Given the description of an element on the screen output the (x, y) to click on. 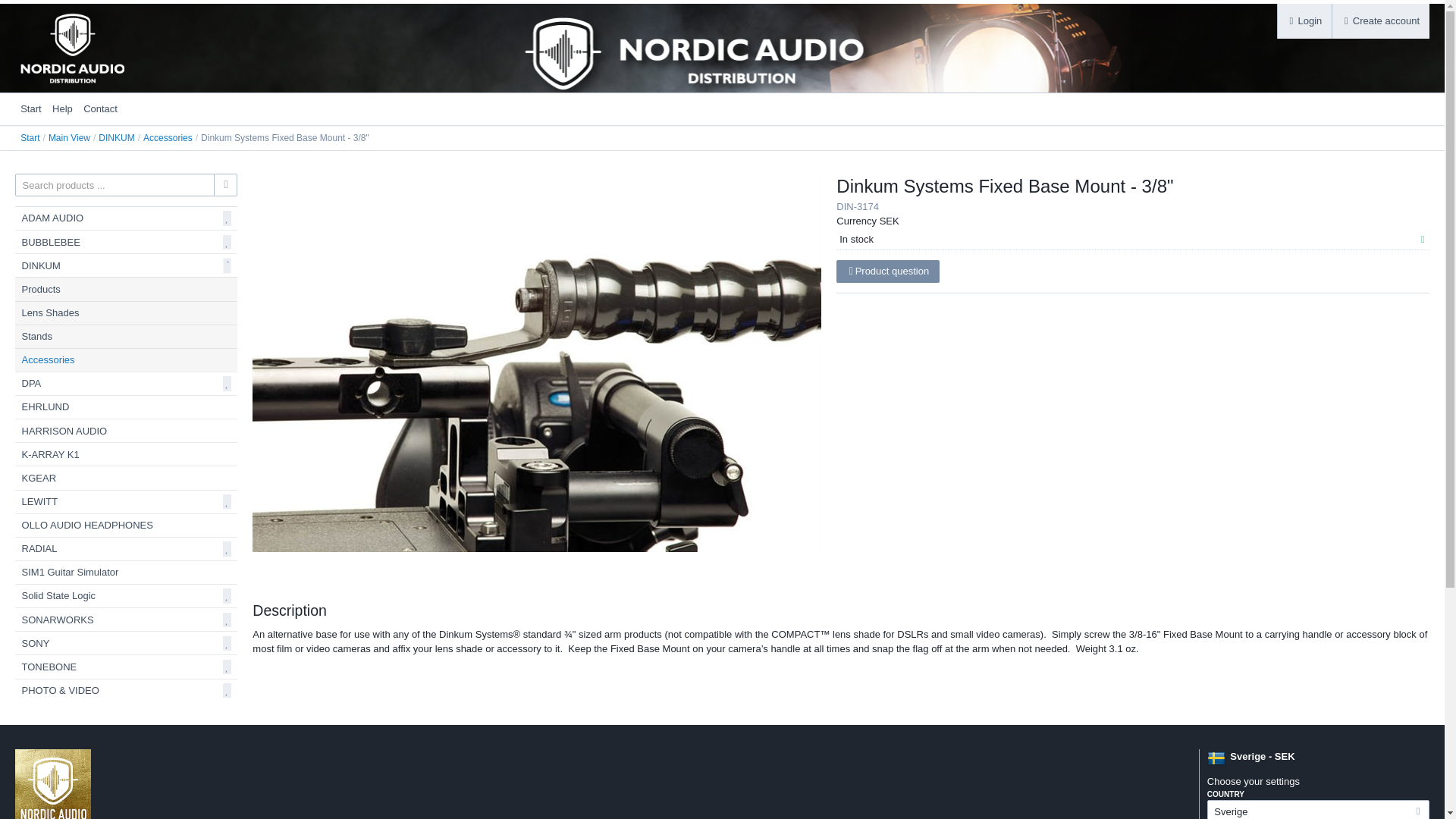
Contact (100, 109)
Main View (69, 137)
Accessories (167, 137)
Create account (1380, 21)
Lens Shades (125, 313)
BUBBLEBEE (50, 242)
Products (125, 288)
DINKUM (116, 137)
DINKUM (41, 265)
Sverige (1318, 809)
ADAM AUDIO (52, 217)
Start (30, 109)
Start (29, 137)
